Given the description of an element on the screen output the (x, y) to click on. 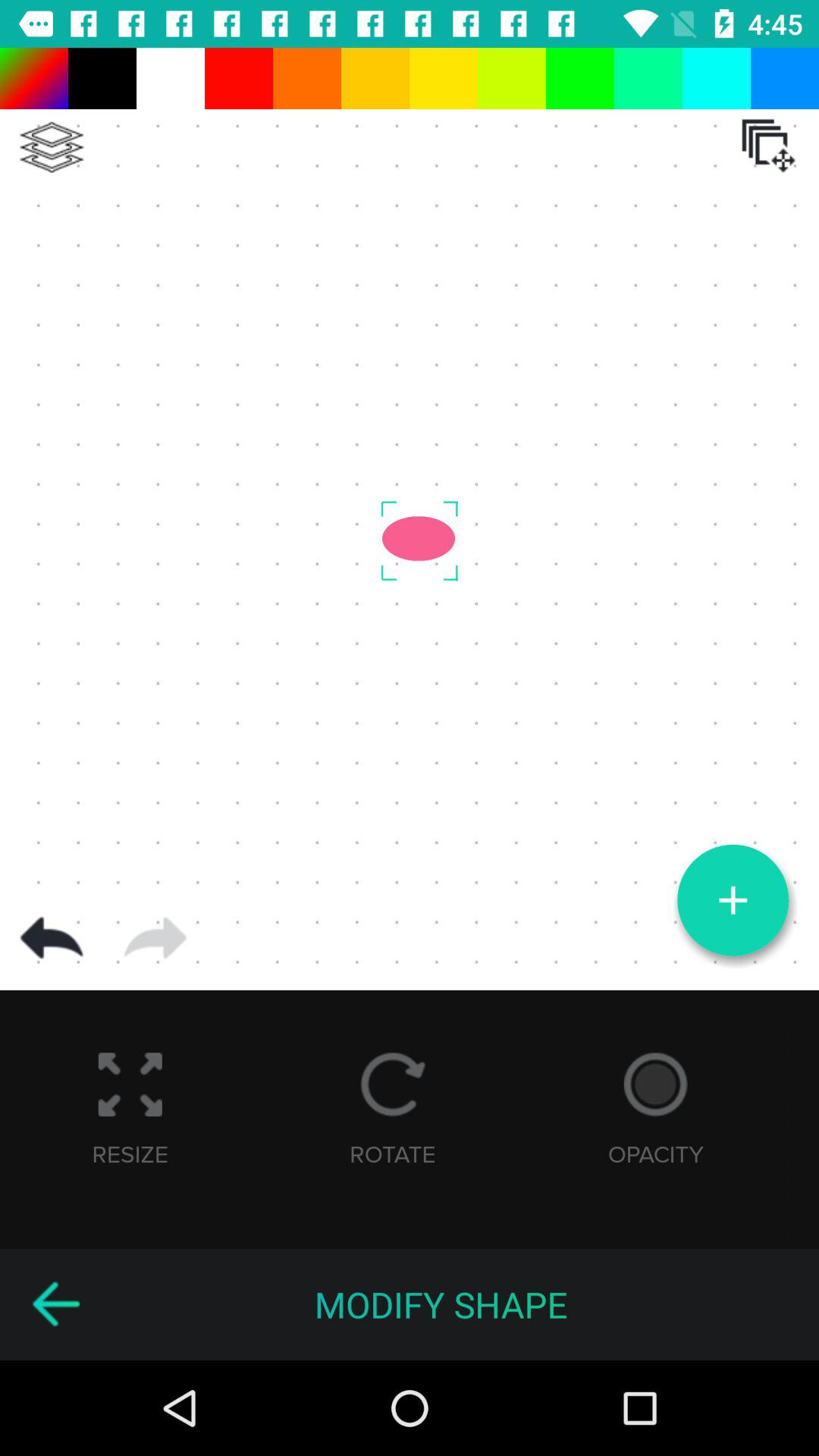
go back (51, 938)
